Given the description of an element on the screen output the (x, y) to click on. 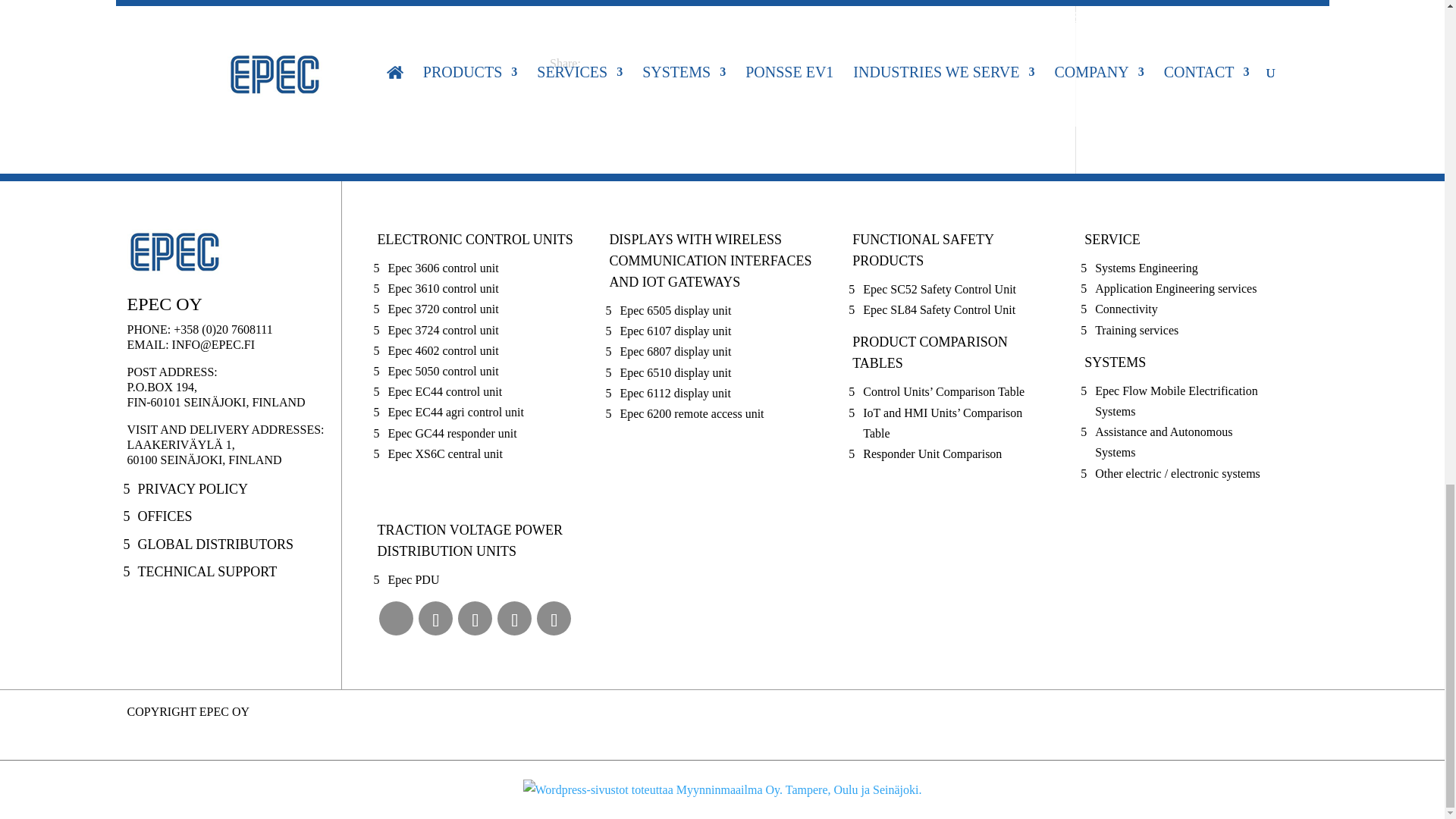
Sivuston toteutus markkinointitoimisto Myynninmaailma Oy (721, 789)
Sivuston toteutus markkinointitoimisto Myynninmaailma Oy (721, 789)
